Given the description of an element on the screen output the (x, y) to click on. 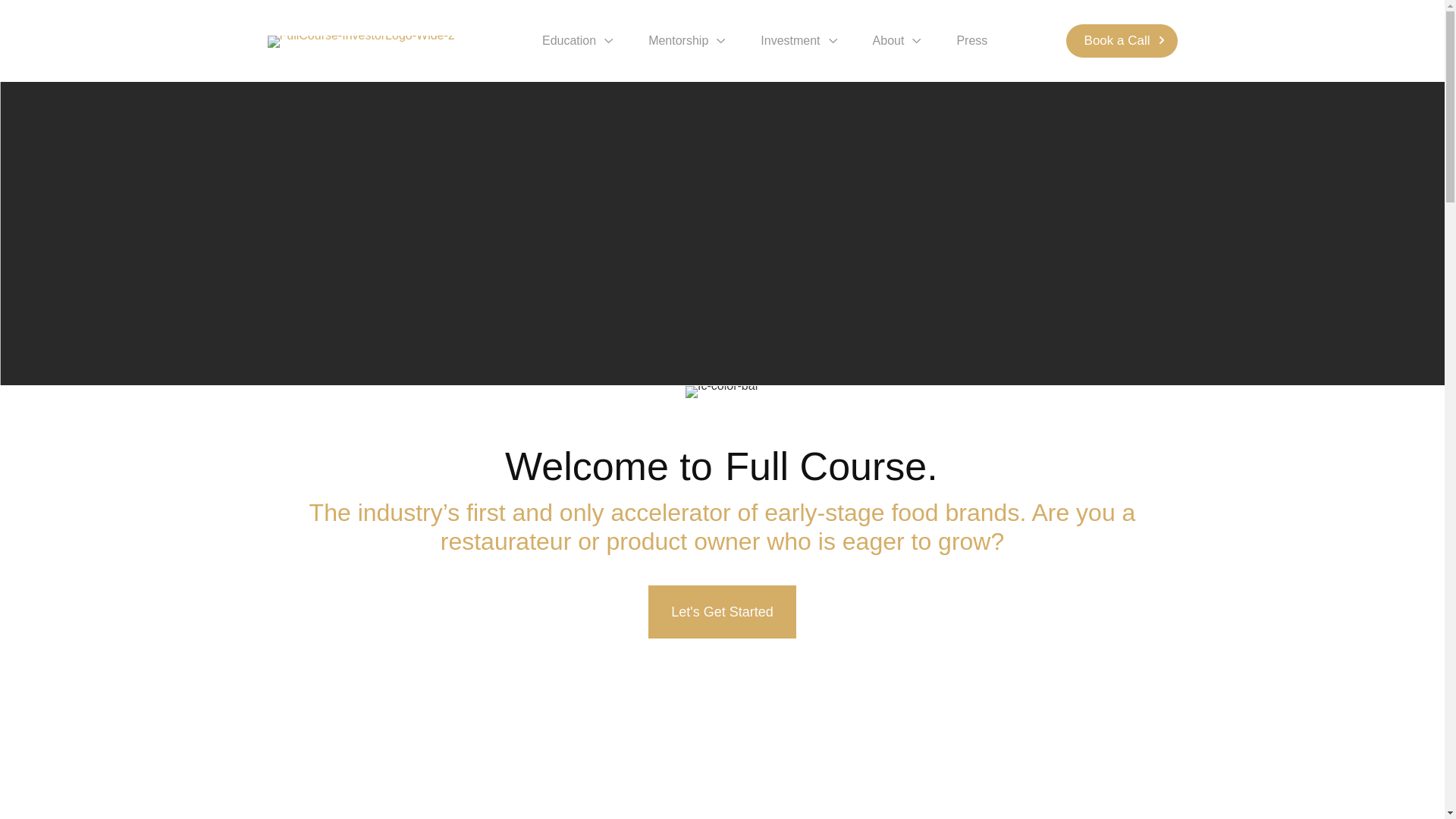
Investment (800, 40)
fc-color-bar (721, 391)
Mentorship (687, 40)
About (898, 40)
FullCourse-InvestorLogo-Wide-2 (360, 40)
Book a Call (1121, 41)
Education (578, 40)
